Given the description of an element on the screen output the (x, y) to click on. 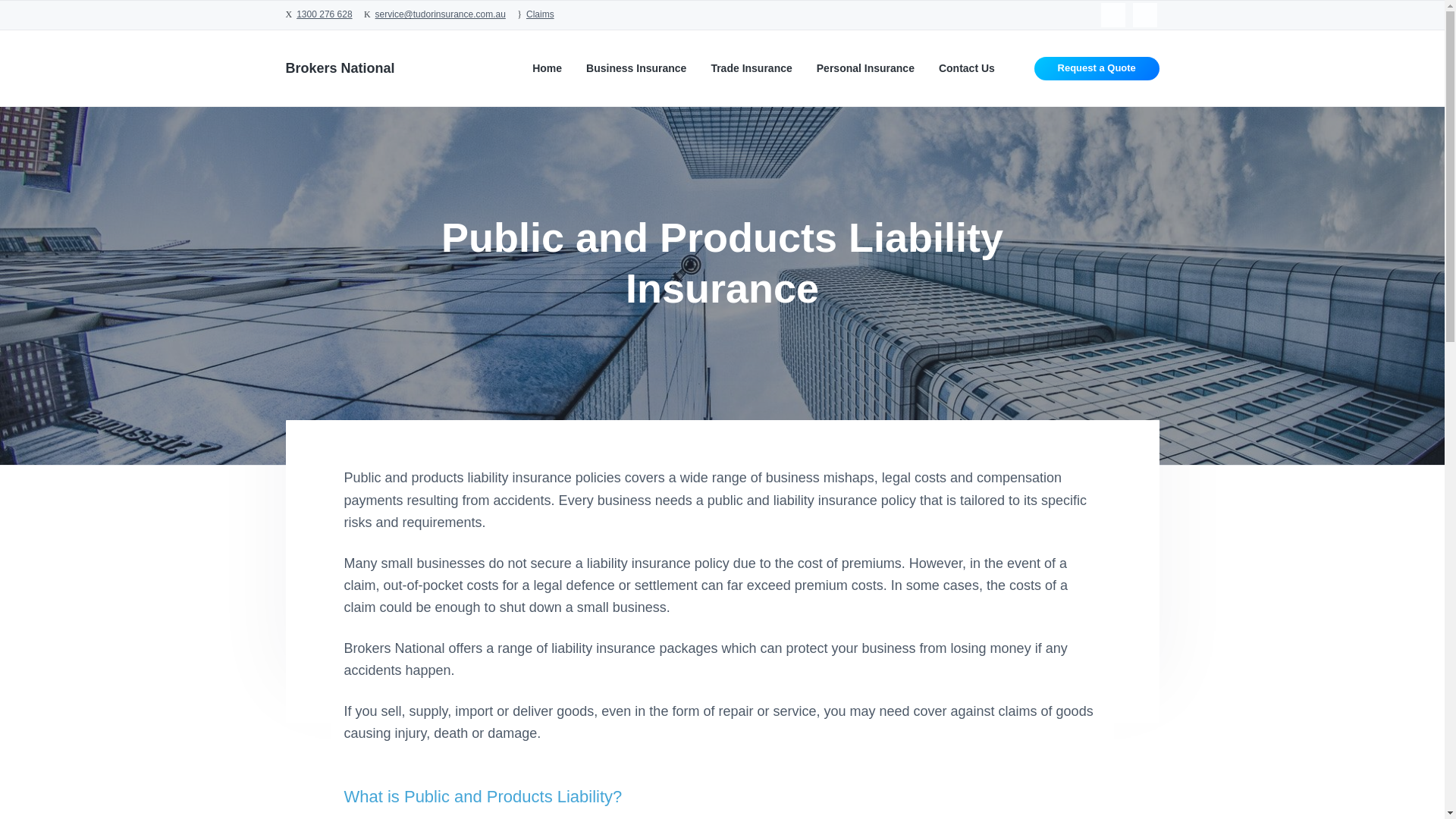
Business Insurance (635, 67)
1300 276 628 (324, 14)
Claims (539, 14)
Trade Insurance (751, 67)
Claims (539, 14)
Brokers National (339, 68)
Home (547, 67)
Personal Insurance (865, 67)
 phone us on 1300 276 628 (324, 14)
